Given the description of an element on the screen output the (x, y) to click on. 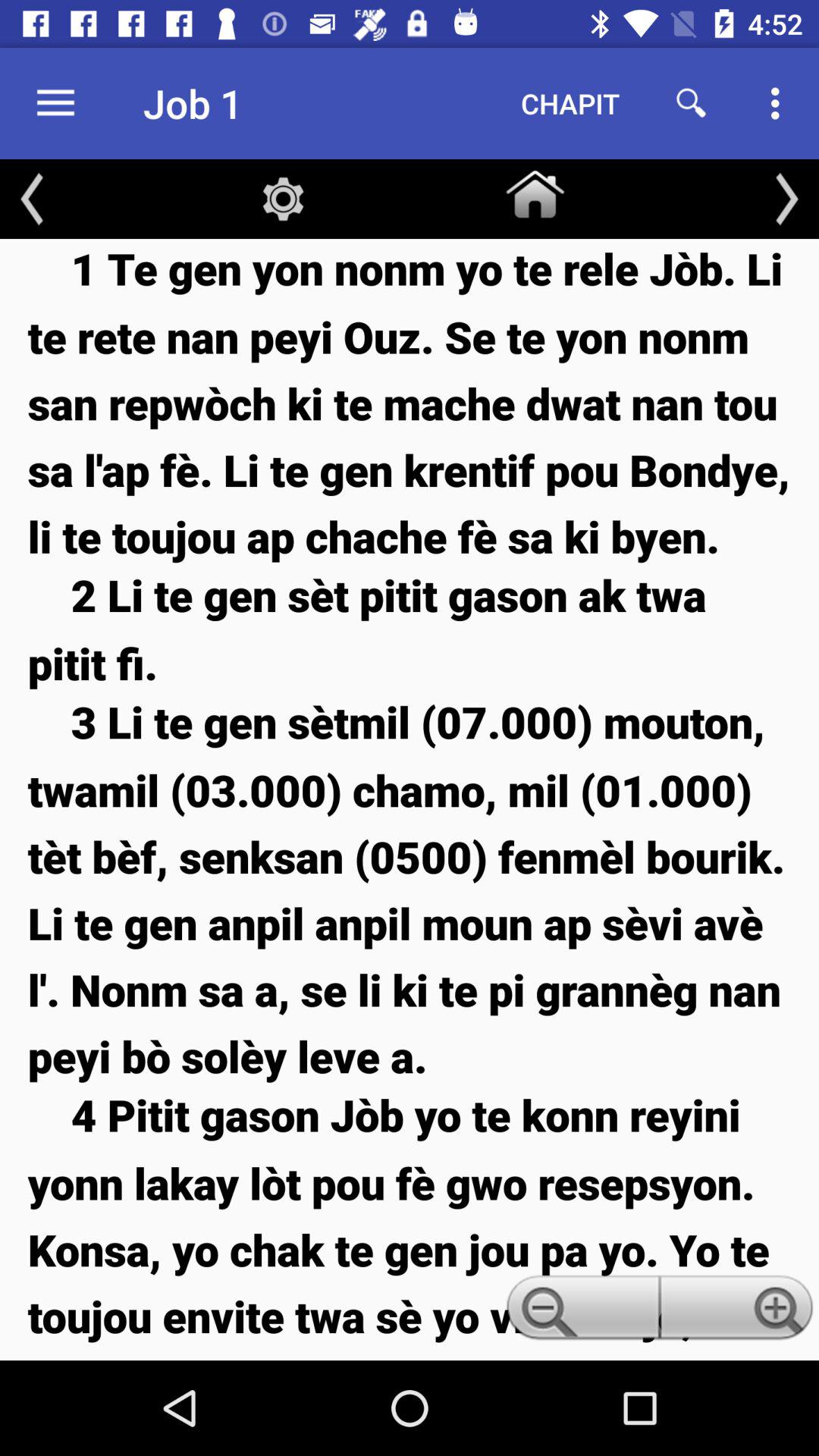
turn on item above 1 te gen item (535, 190)
